Given the description of an element on the screen output the (x, y) to click on. 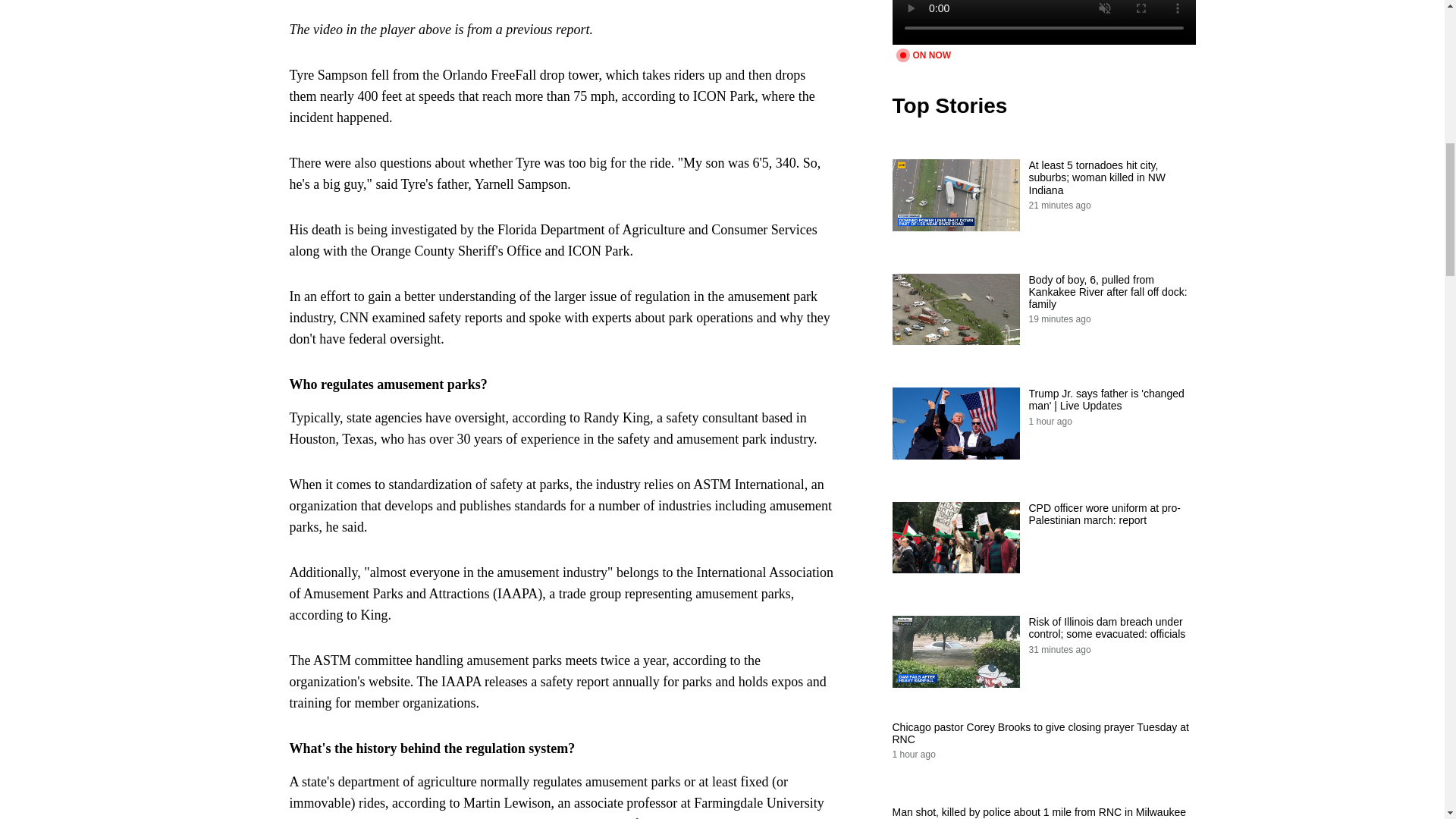
video.title (1043, 22)
